Given the description of an element on the screen output the (x, y) to click on. 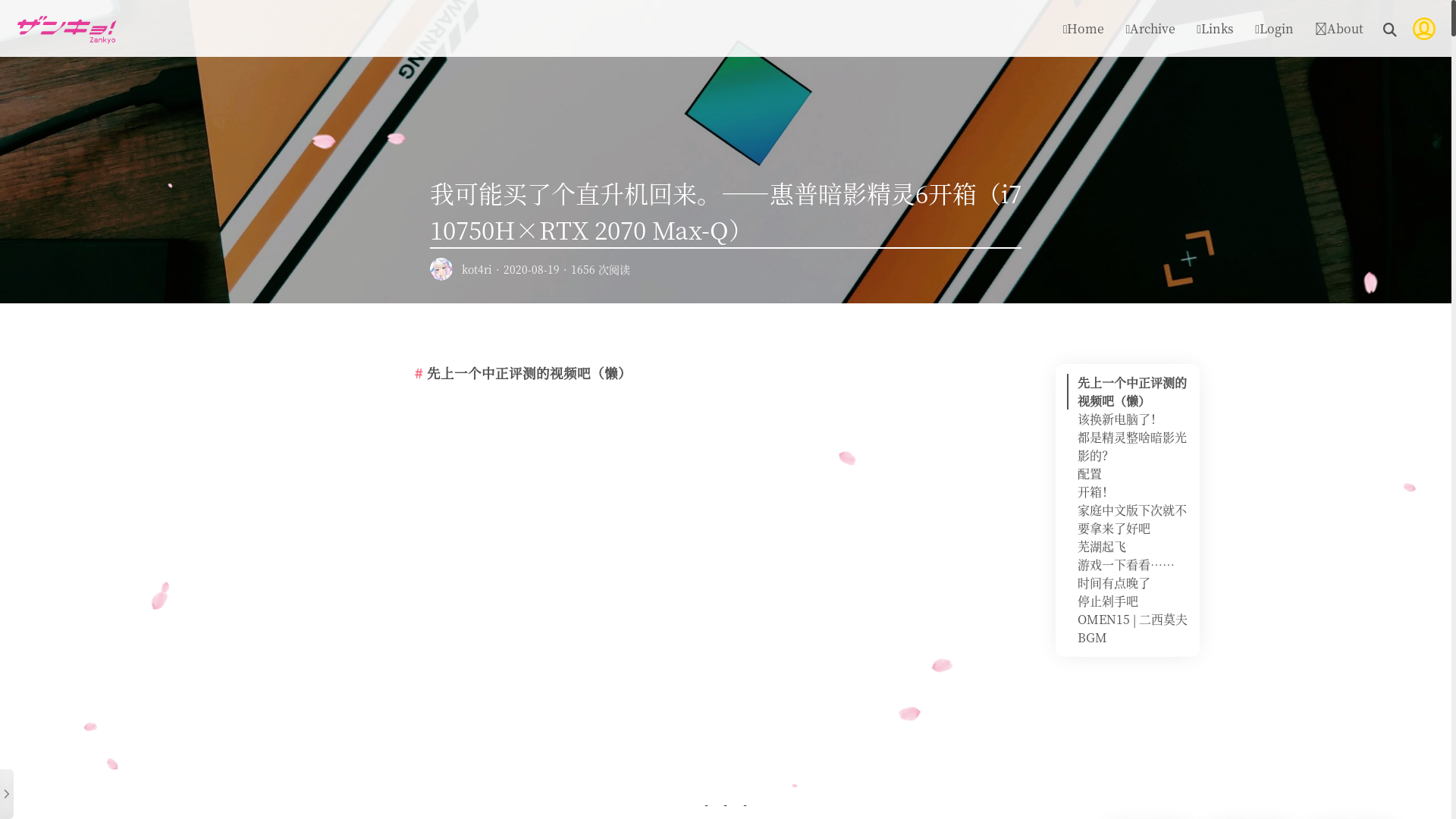
kot4ri Element type: text (476, 268)
BGM Element type: text (1092, 637)
